Given the description of an element on the screen output the (x, y) to click on. 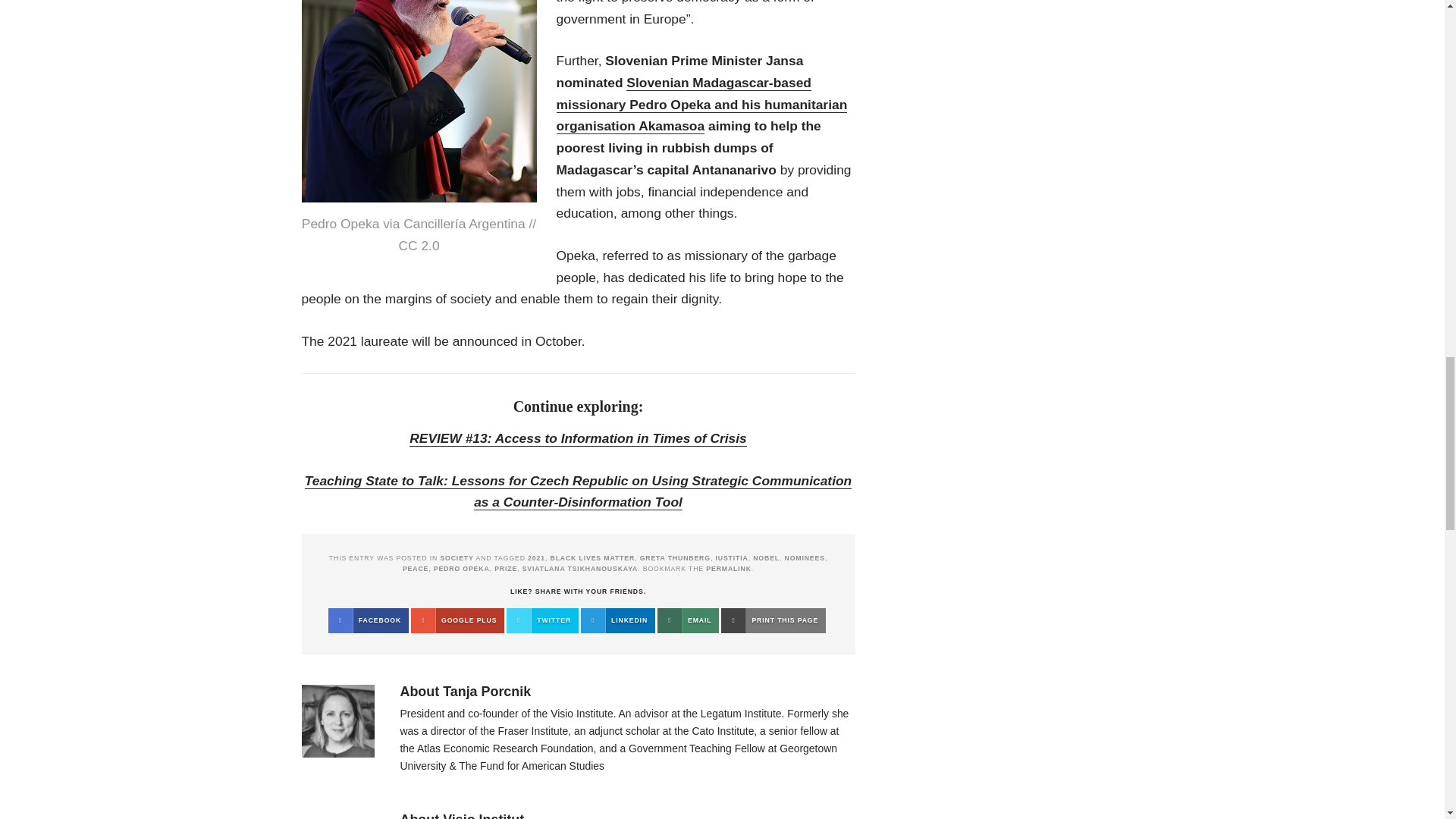
Posts by Tanja Porcnik (486, 691)
Posts by Visio Institut (483, 815)
